Given the description of an element on the screen output the (x, y) to click on. 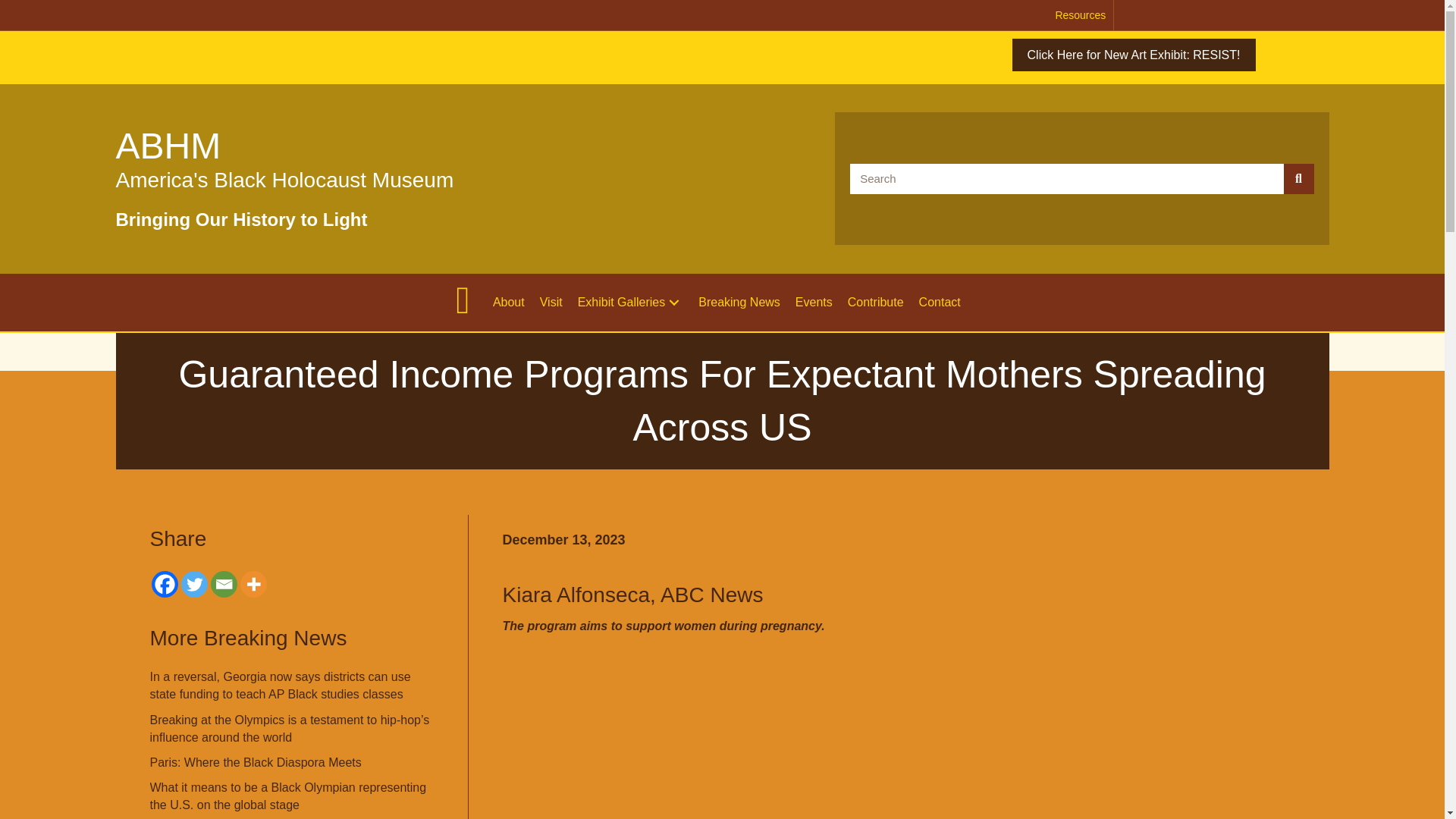
Contribute (875, 301)
More (253, 583)
Resources (1079, 15)
Twitter (193, 583)
Breaking News (738, 301)
More Breaking News (248, 638)
Exhibit Galleries (630, 301)
Visit (551, 301)
Paris: Where the Black Diaspora Meets (255, 762)
Paris: Where the Black Diaspora Meets (255, 762)
Search (1067, 178)
Events (813, 301)
